Given the description of an element on the screen output the (x, y) to click on. 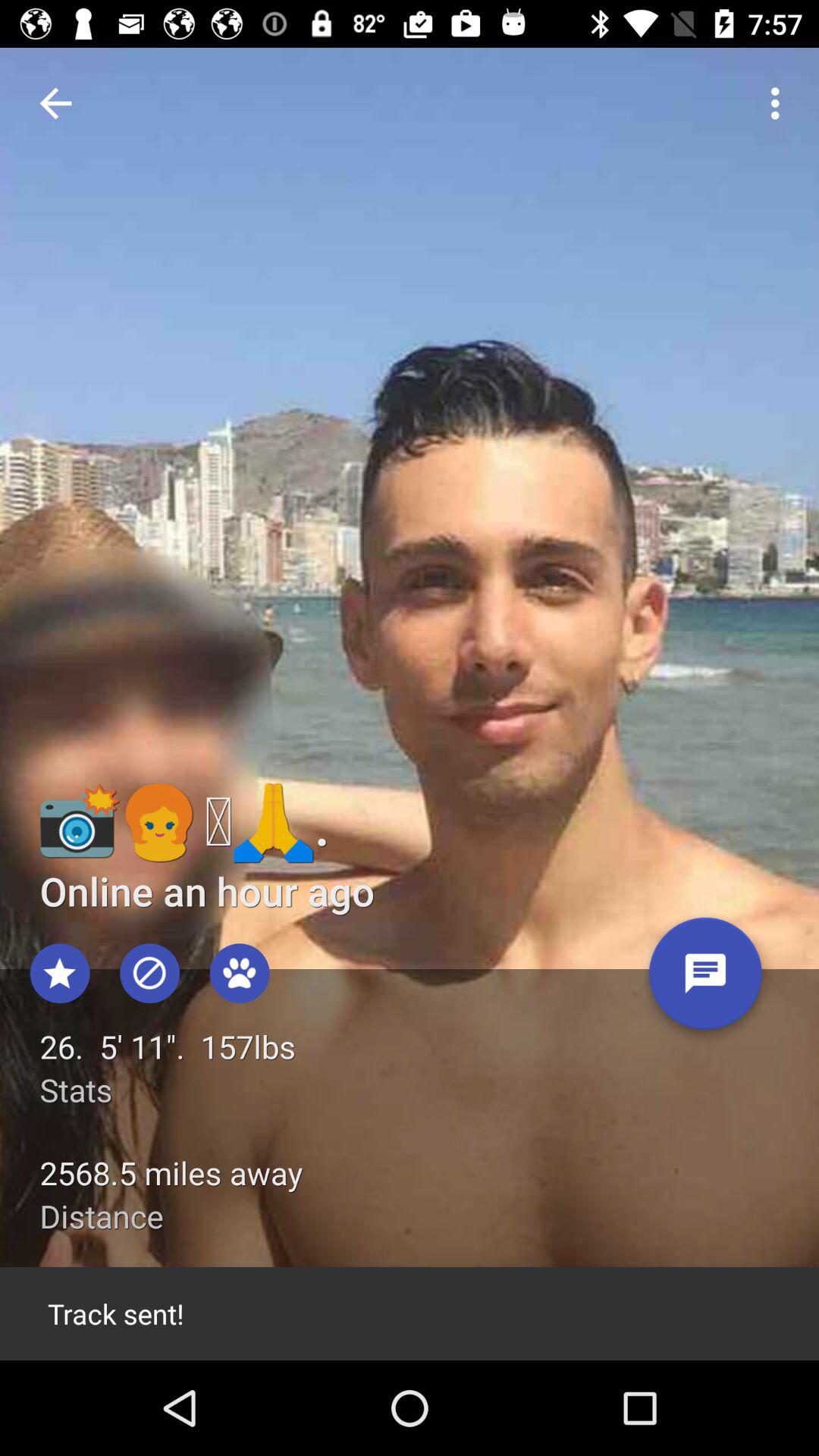
click icon at the top left corner (55, 103)
